Given the description of an element on the screen output the (x, y) to click on. 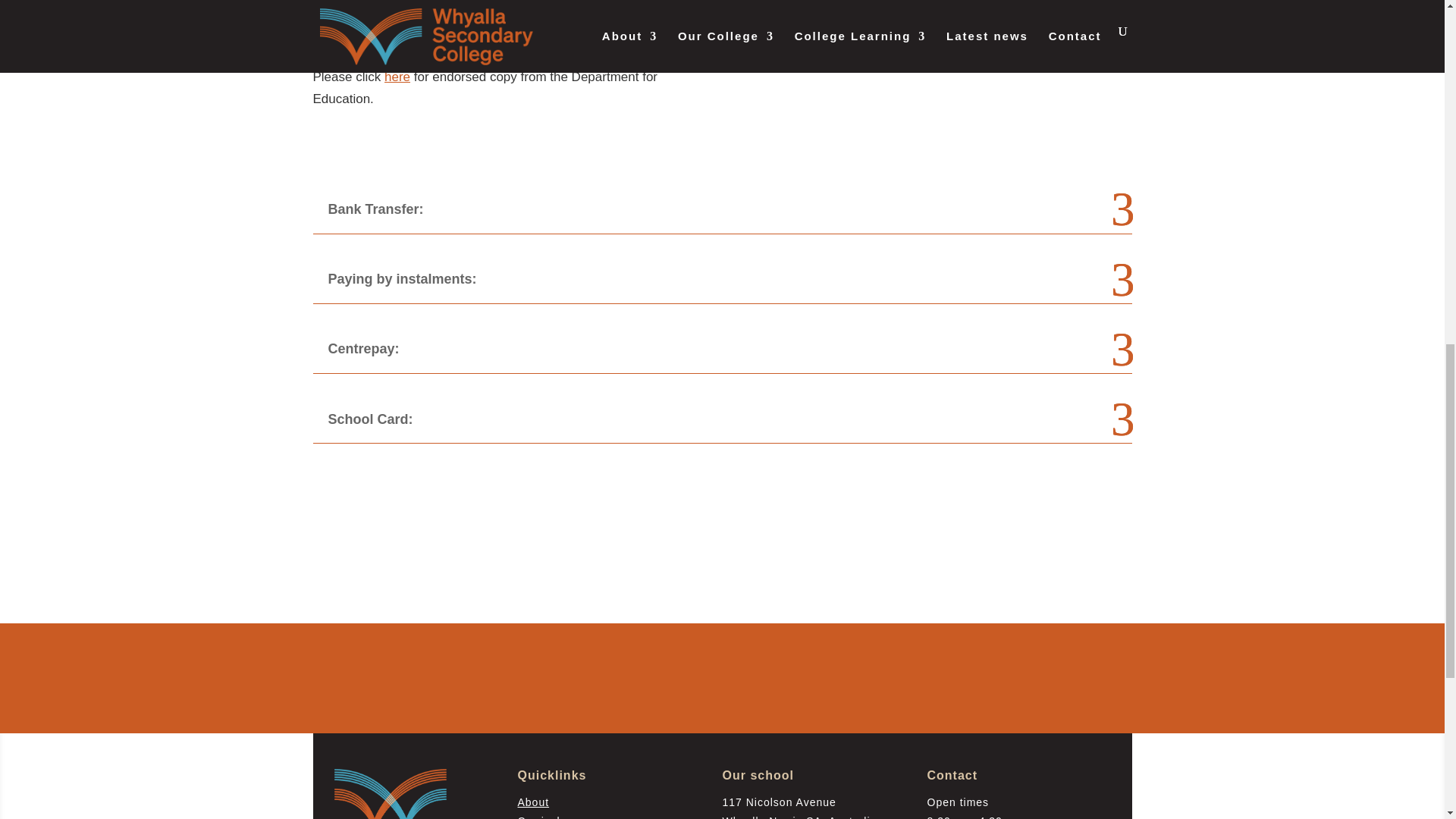
Whyalla Horizontal Logo (390, 794)
